Given the description of an element on the screen output the (x, y) to click on. 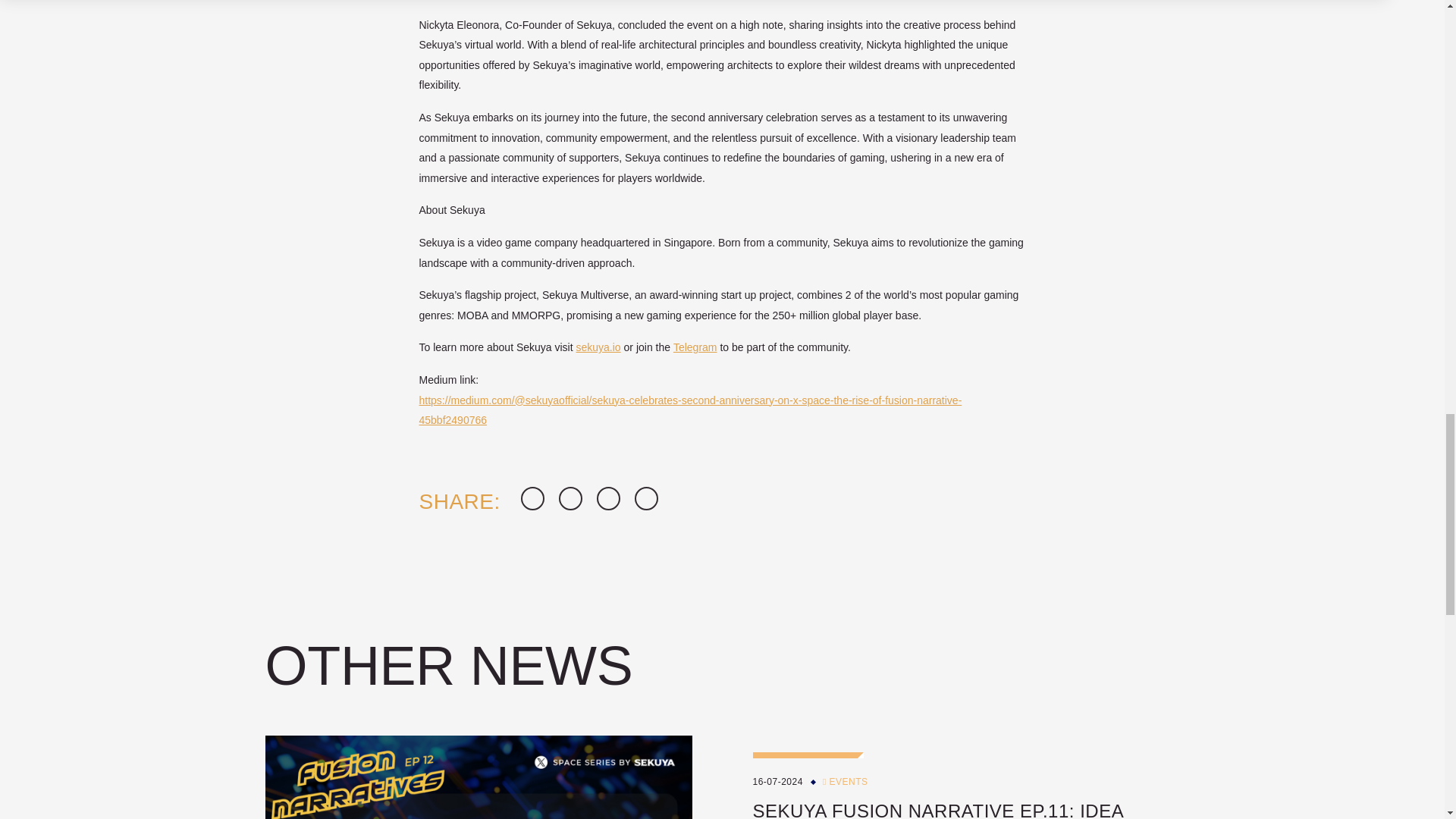
Telegram (694, 347)
sekuya.io (598, 347)
